Given the description of an element on the screen output the (x, y) to click on. 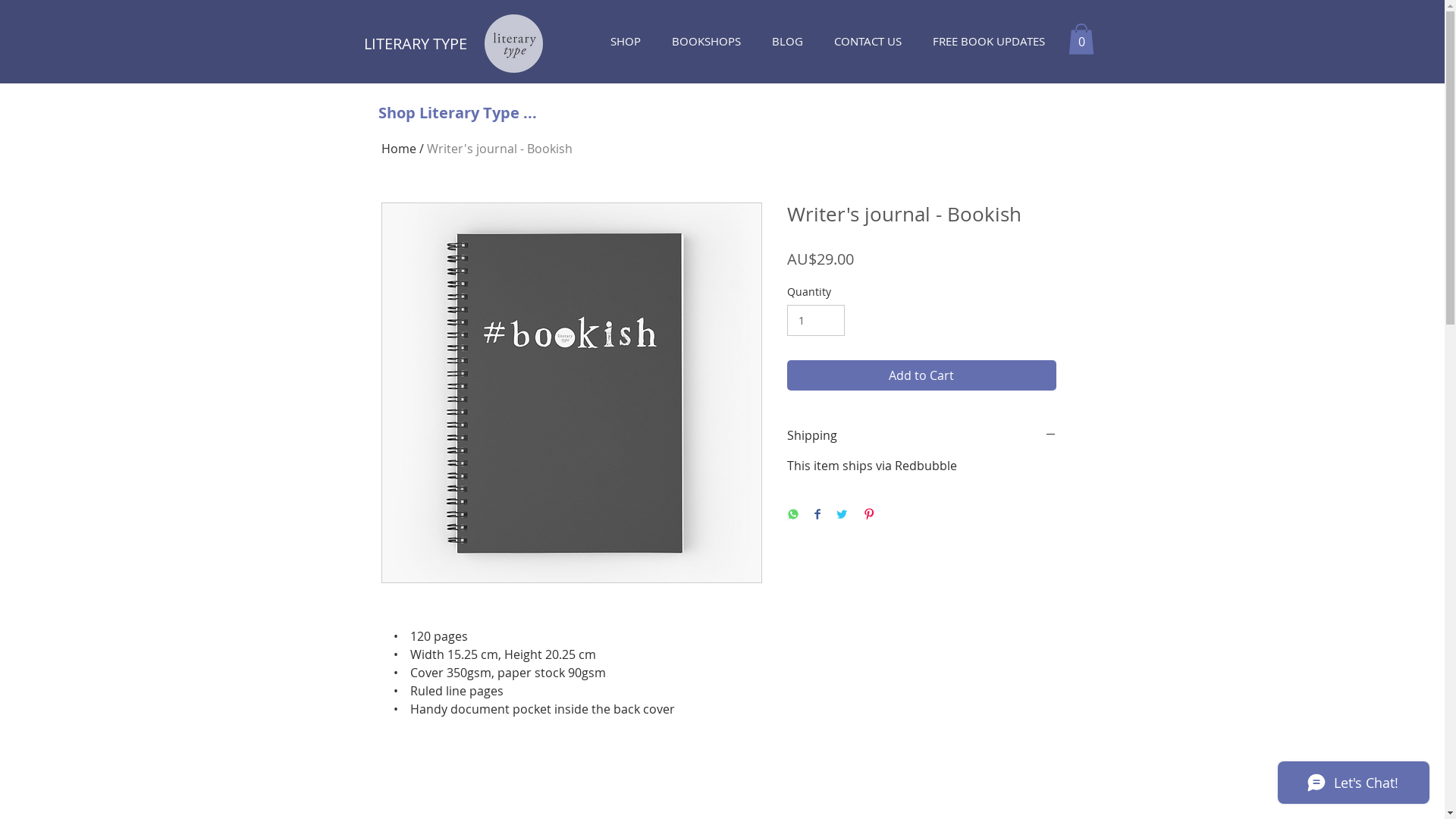
Add to Cart Element type: text (921, 375)
LITERARY TYPE Element type: text (415, 43)
Writer's journal - Bookish Element type: text (498, 148)
0 Element type: text (1080, 38)
Shipping Element type: text (921, 434)
FREE BOOK UPDATES Element type: text (991, 40)
Home Element type: text (397, 148)
CONTACT US Element type: text (871, 40)
BOOKSHOPS Element type: text (709, 40)
BLOG Element type: text (790, 40)
SHOP Element type: text (629, 40)
